Given the description of an element on the screen output the (x, y) to click on. 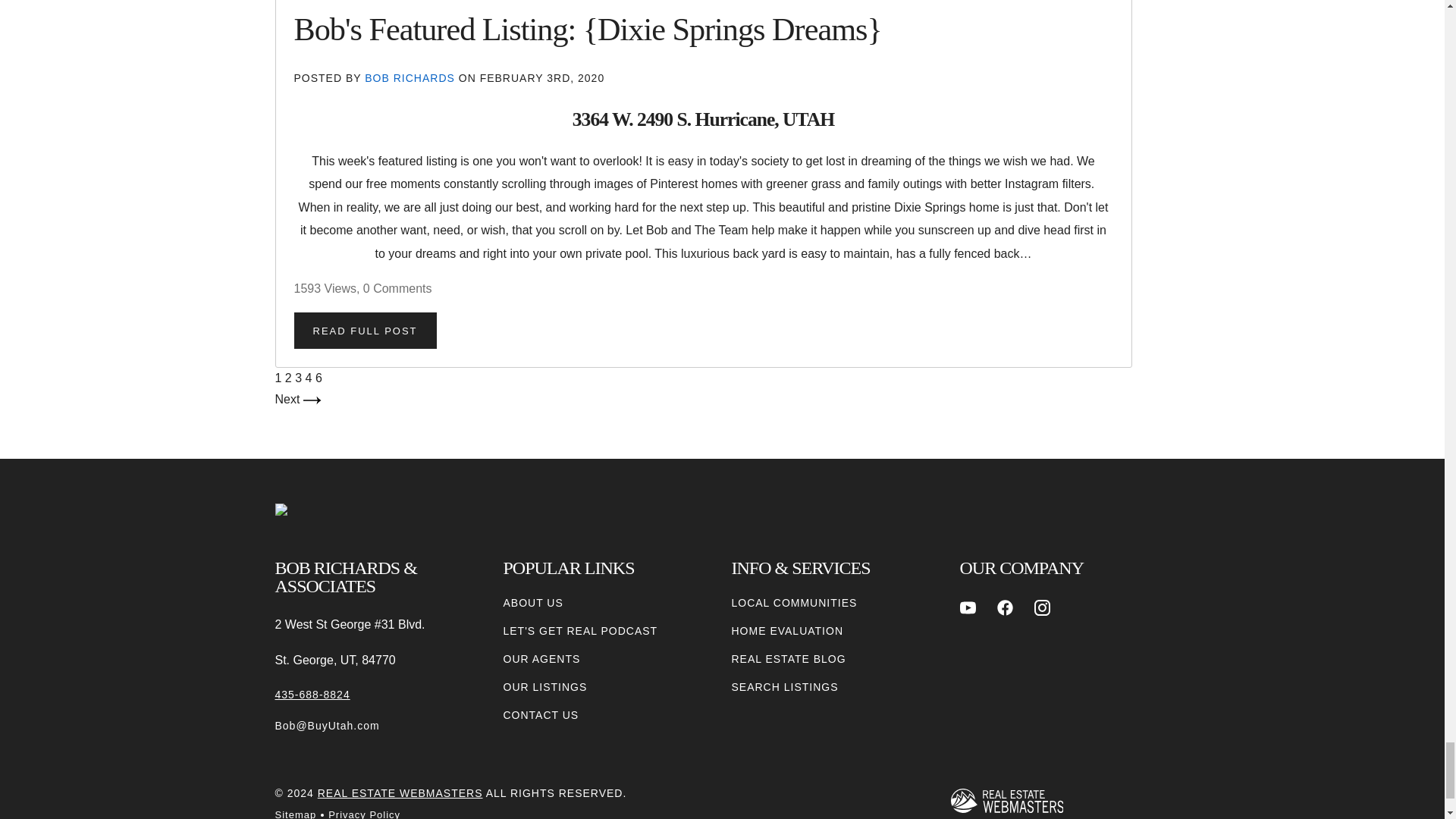
Current Page is 2 (290, 377)
Next Page (297, 399)
Current Page is 3 (299, 377)
Current Page is 4 (310, 377)
Current Page is 1 (279, 377)
Current Page is 6 (318, 377)
